Given the description of an element on the screen output the (x, y) to click on. 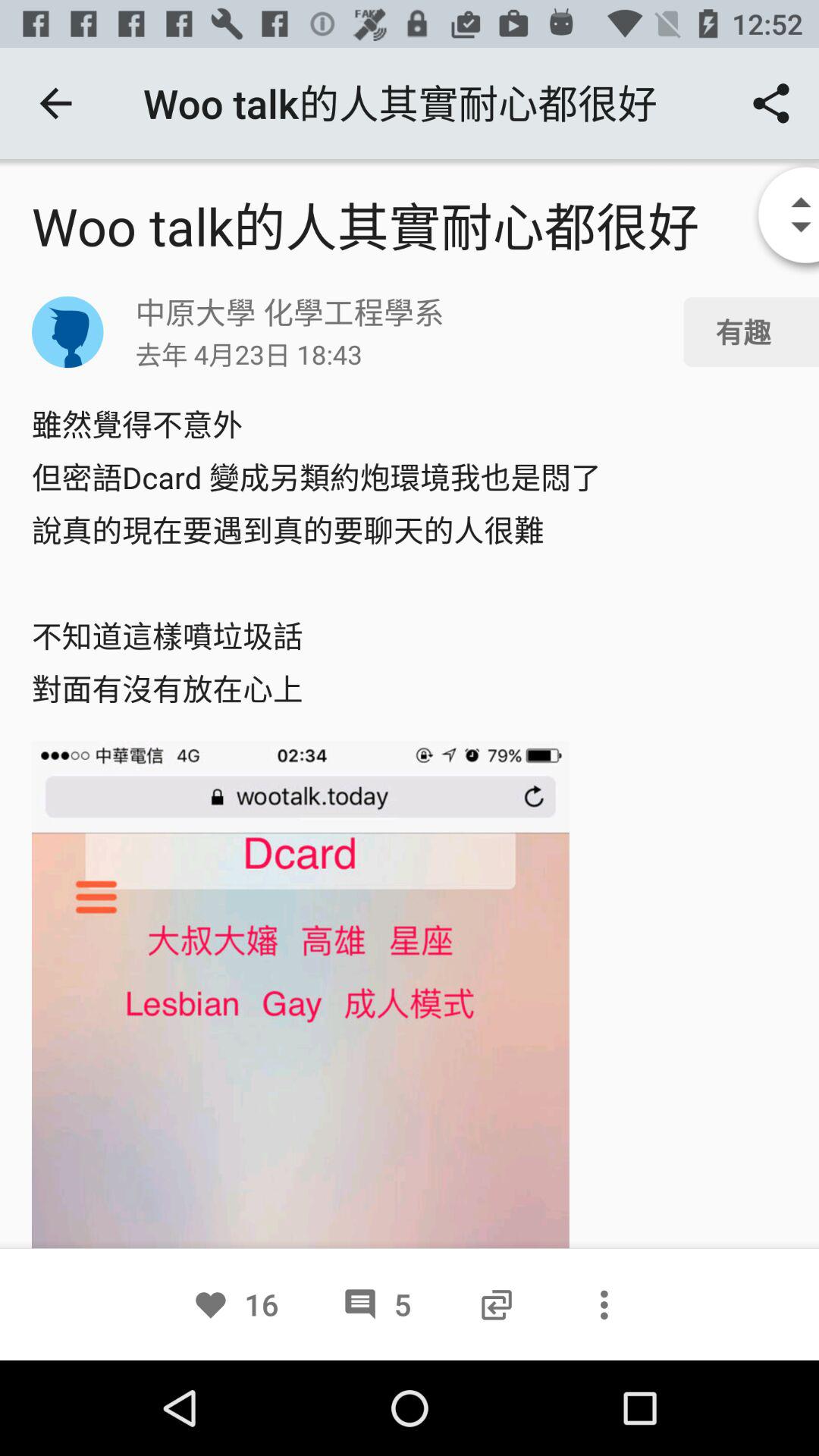
jump until 5 icon (376, 1304)
